Given the description of an element on the screen output the (x, y) to click on. 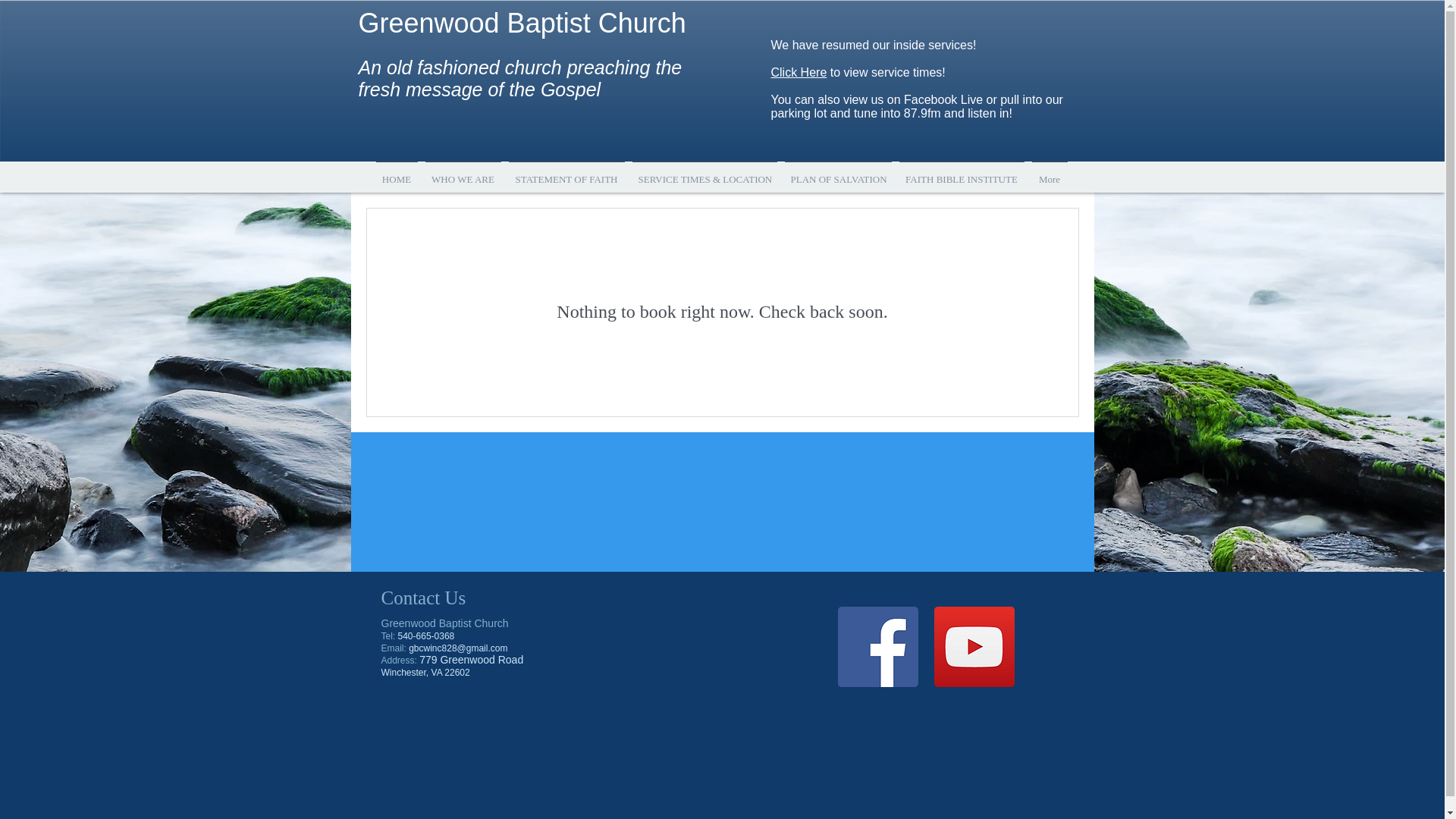
WHO WE ARE (463, 172)
PLAN OF SALVATION (837, 172)
FAITH BIBLE INSTITUTE (961, 172)
STATEMENT OF FAITH (566, 172)
HOME (395, 172)
Click Here (798, 72)
